Given the description of an element on the screen output the (x, y) to click on. 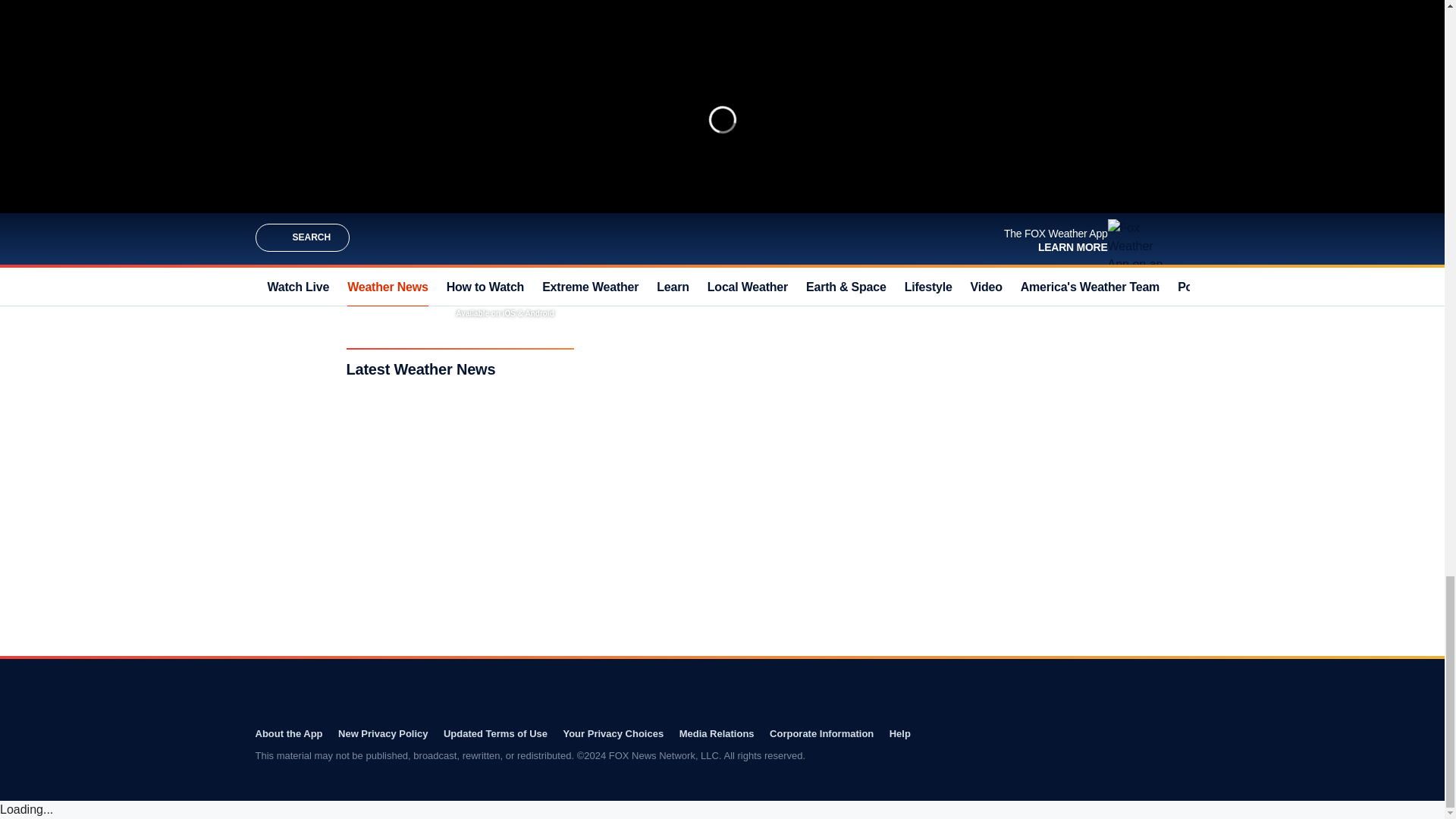
Facebook (817, 688)
clicking here (717, 162)
HURRICANES (648, 204)
Twitter (849, 688)
LinkedIn (947, 688)
Instagram (881, 688)
Help (900, 733)
FOX News Audio (917, 142)
Corporate Information (821, 733)
About the App (287, 733)
